Given the description of an element on the screen output the (x, y) to click on. 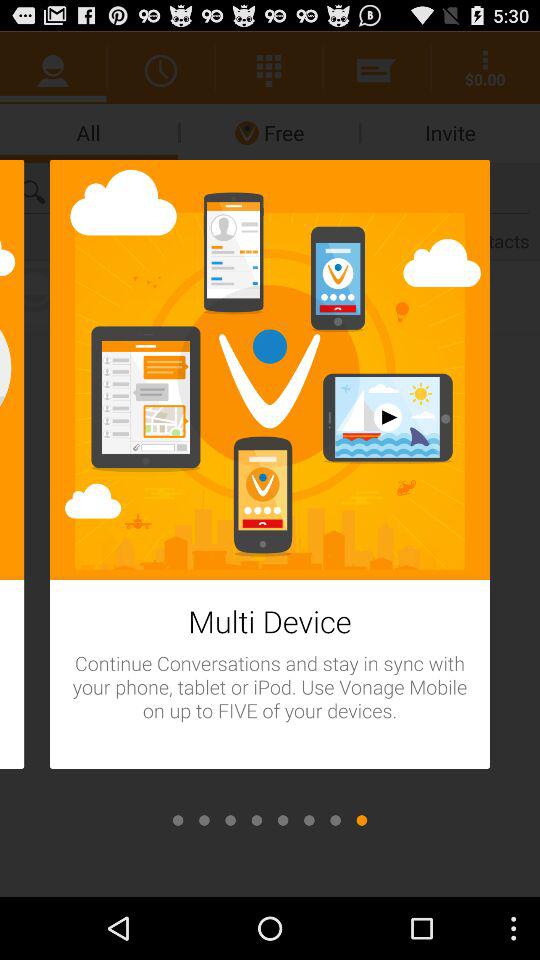
view previous slide (335, 820)
